Given the description of an element on the screen output the (x, y) to click on. 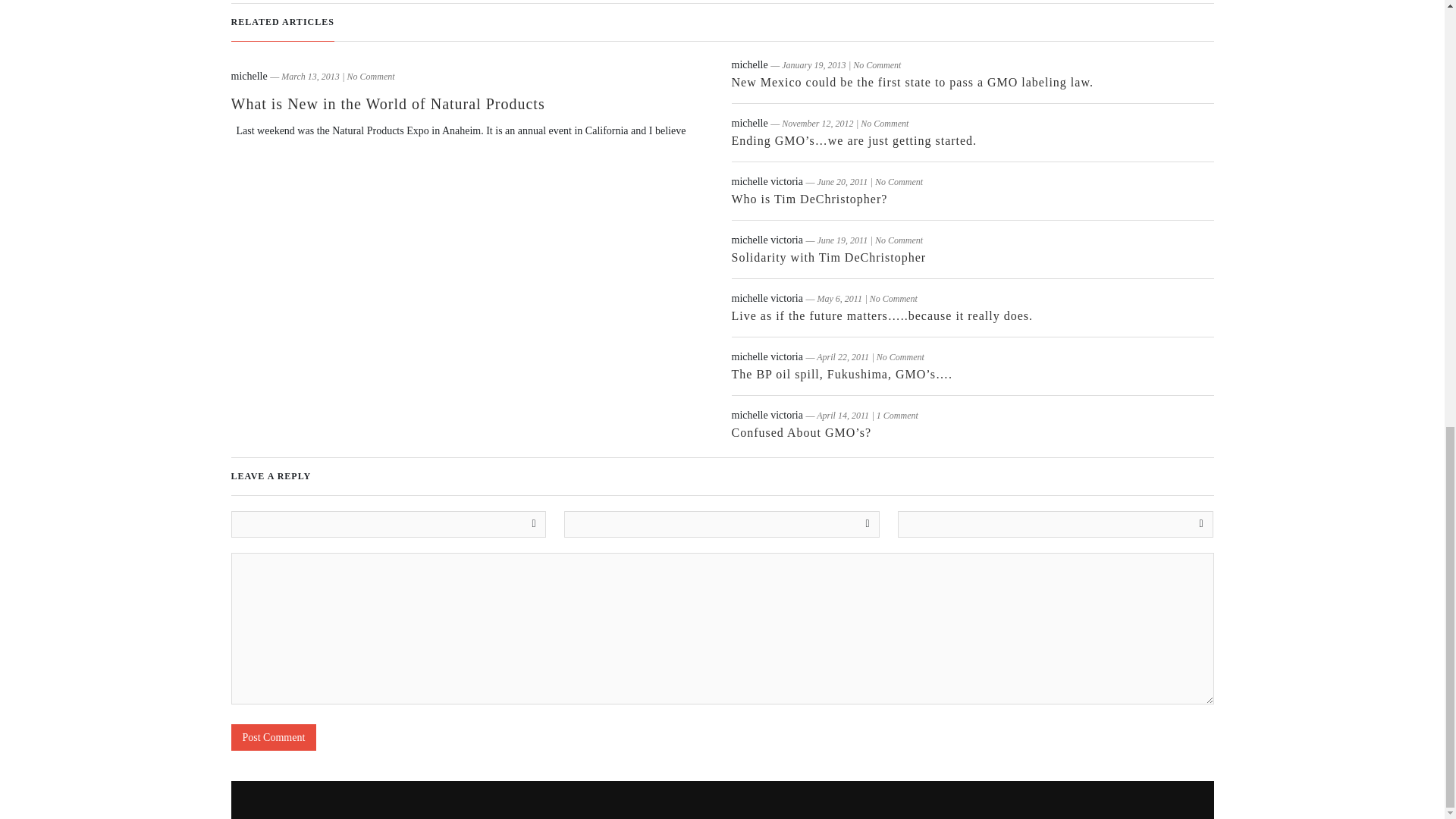
No Comment (877, 64)
Solidarity with Tim DeChristopher (828, 256)
No Comment (884, 122)
No Comment (893, 298)
1 Comment (897, 415)
Solidarity with Tim DeChristopher (828, 256)
Who is Tim DeChristopher? (808, 198)
No Comment (899, 240)
